Given the description of an element on the screen output the (x, y) to click on. 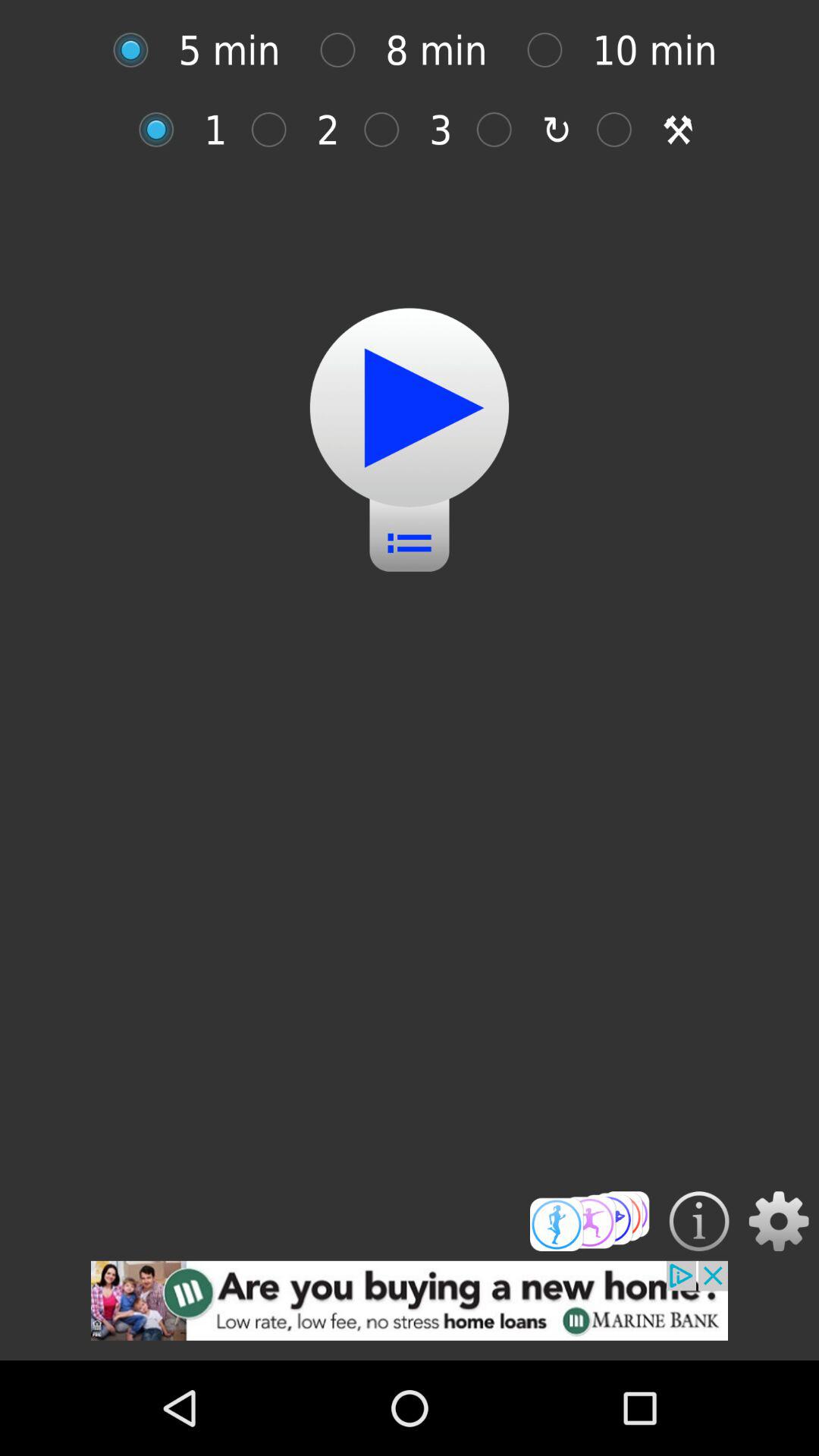
play video (409, 407)
